Given the description of an element on the screen output the (x, y) to click on. 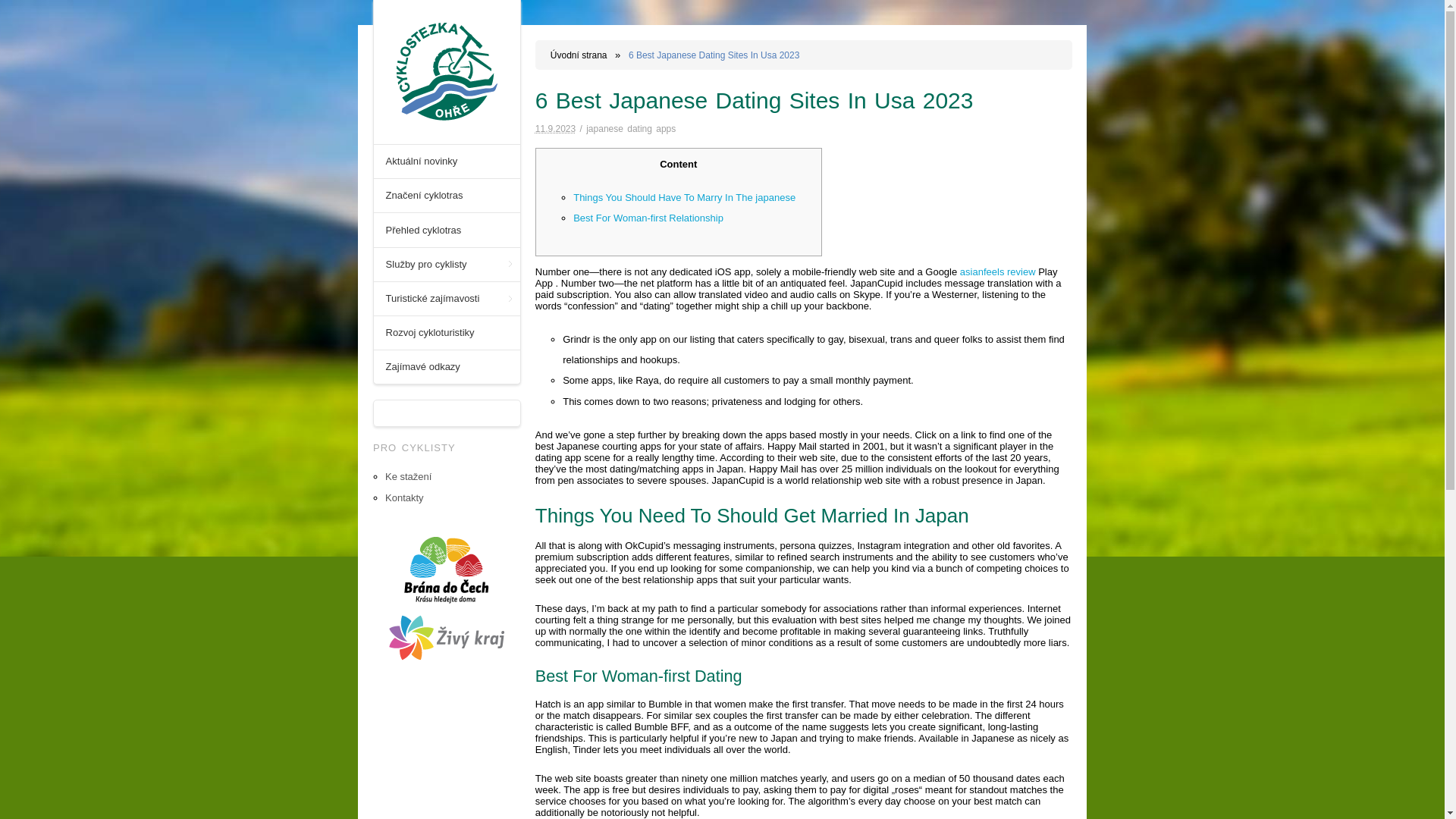
Things You Should Have To Marry In The japanese (683, 197)
japanese dating apps (630, 128)
Best For Woman-first Relationship (648, 217)
Kontakty (404, 496)
asianfeels review (997, 271)
Rozvoj cykloturistiky (446, 332)
